Given the description of an element on the screen output the (x, y) to click on. 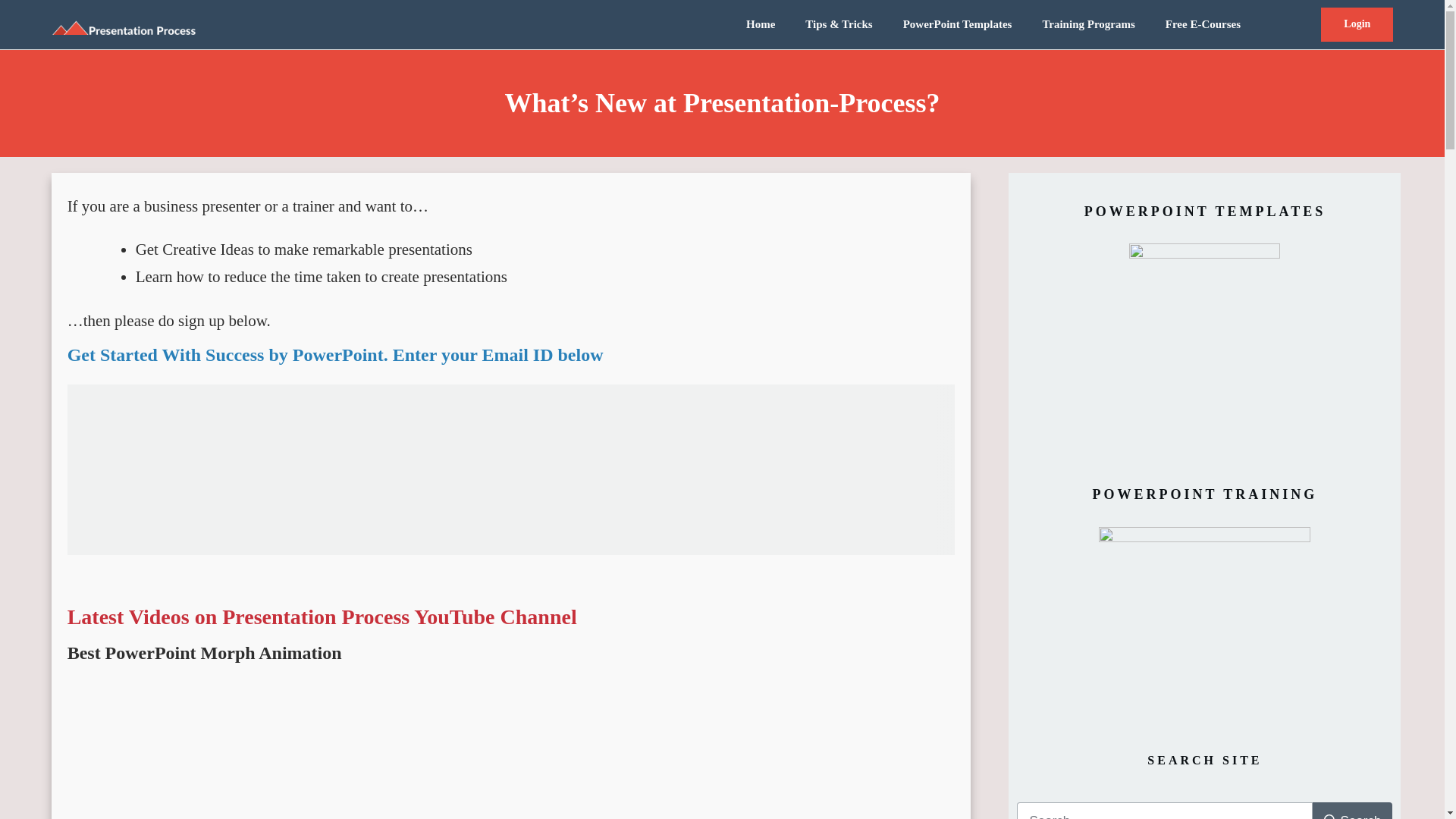
Search (1353, 810)
Home (759, 24)
Free E-Courses (1203, 24)
Login (1356, 24)
Training Programs (1088, 24)
PowerPoint Templates (956, 24)
